Given the description of an element on the screen output the (x, y) to click on. 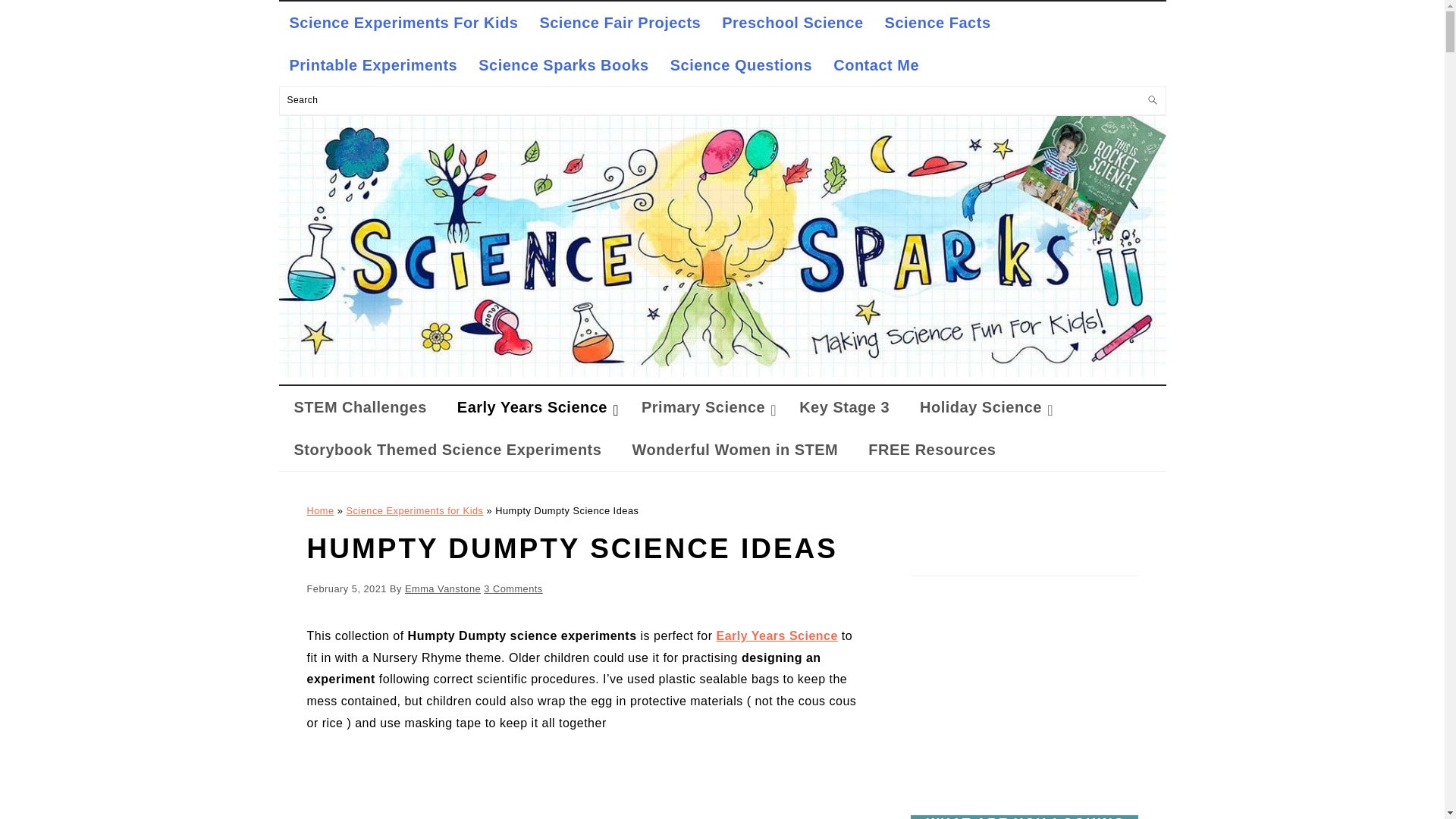
Science Fair Projects (619, 22)
Science Sparks Books (563, 65)
Preschool Science (792, 22)
Printable Experiments (373, 65)
STEM Challenges (360, 406)
Science Experiments for Kids (722, 372)
Contact Me (876, 65)
Science Facts (938, 22)
Science Experiments For Kids (404, 22)
Science Questions (740, 65)
